Given the description of an element on the screen output the (x, y) to click on. 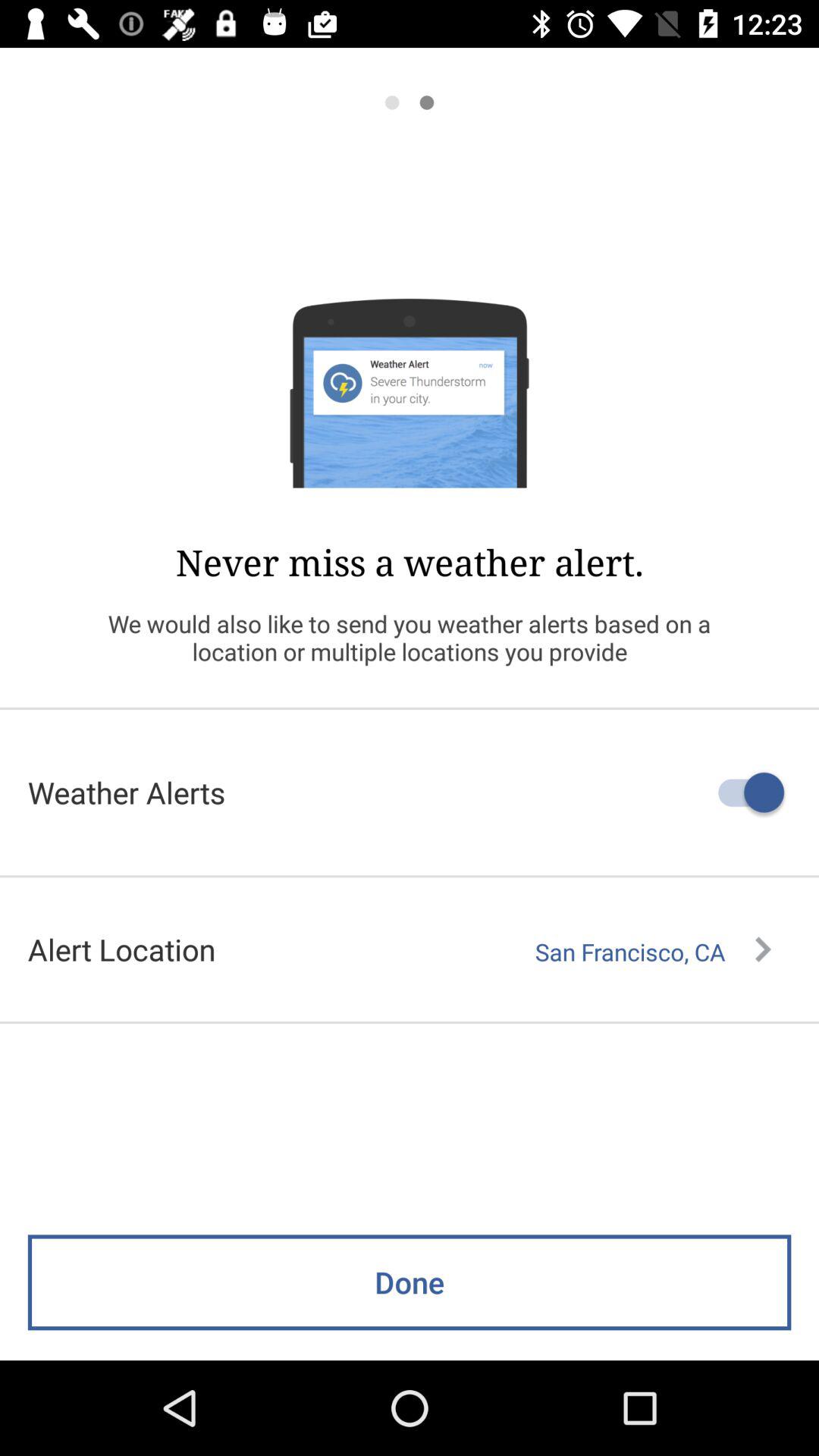
click on done button (409, 1315)
